Given the description of an element on the screen output the (x, y) to click on. 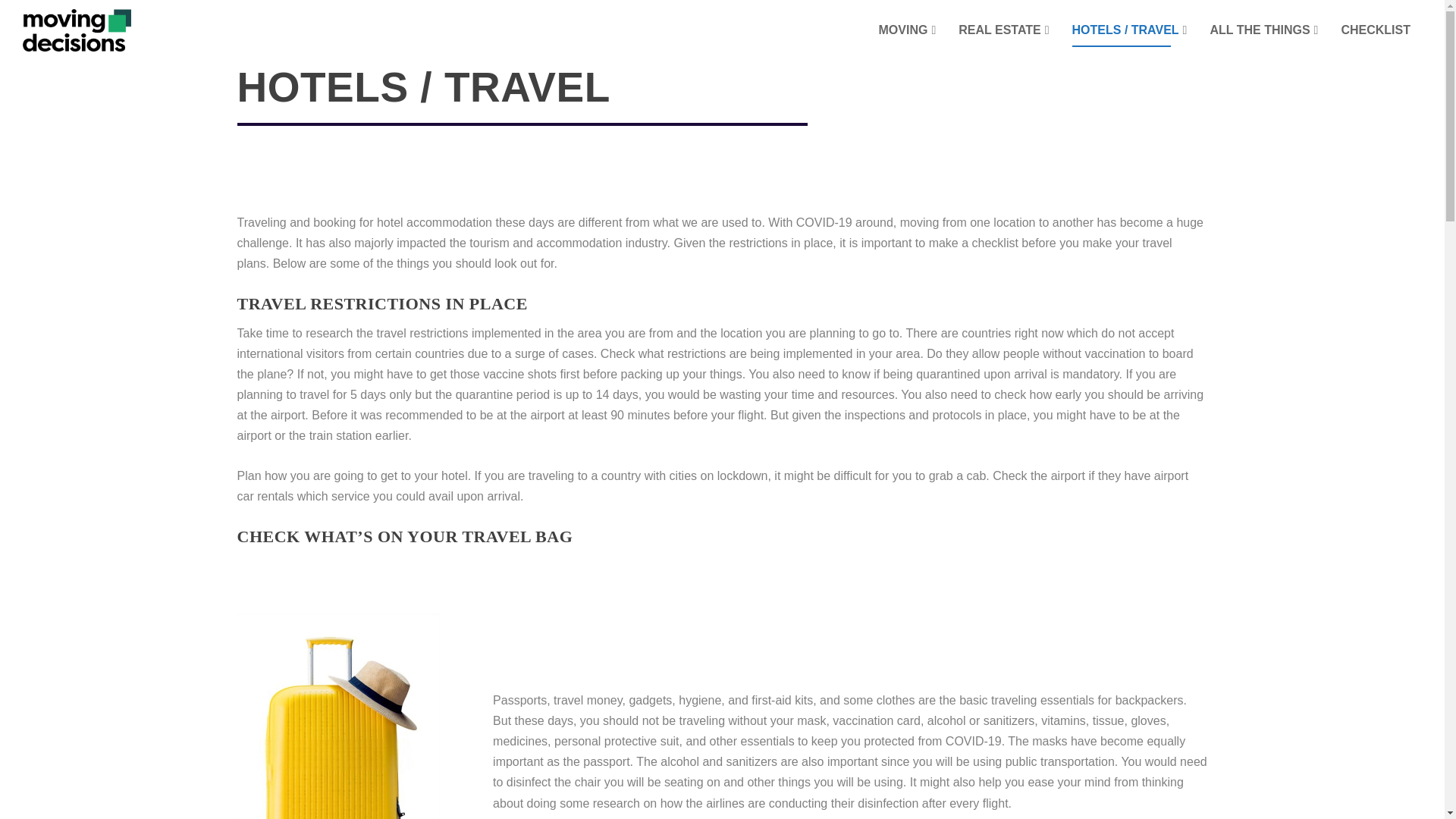
MOVING (907, 42)
ALL THE THINGS (1263, 42)
travelling bag (337, 716)
CHECKLIST (1375, 42)
REAL ESTATE (1003, 42)
